Given the description of an element on the screen output the (x, y) to click on. 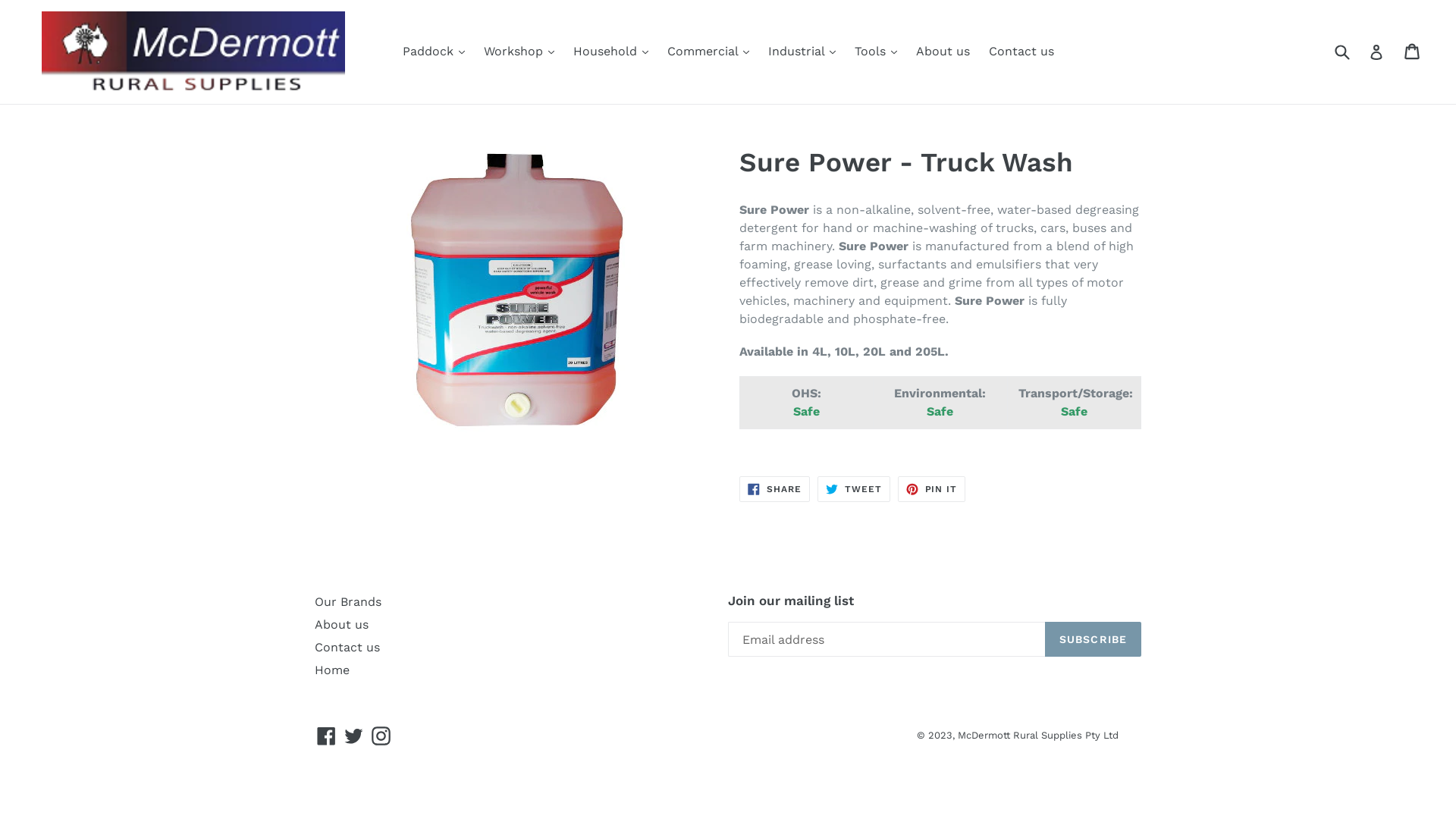
McDermott Rural Supplies Element type: text (1019, 734)
PIN IT
PIN ON PINTEREST Element type: text (931, 489)
Facebook Element type: text (326, 736)
About us Element type: text (942, 51)
Cart
Cart Element type: text (1412, 51)
Submit Element type: text (1341, 51)
SUBSCRIBE Element type: text (1092, 638)
SHARE
SHARE ON FACEBOOK Element type: text (774, 489)
TWEET
TWEET ON TWITTER Element type: text (853, 489)
Twitter Element type: text (353, 736)
Contact us Element type: text (346, 647)
Contact us Element type: text (1021, 51)
Log in Element type: text (1375, 51)
Home Element type: text (331, 669)
About us Element type: text (341, 624)
Instagram Element type: text (380, 736)
Our Brands Element type: text (347, 601)
